Given the description of an element on the screen output the (x, y) to click on. 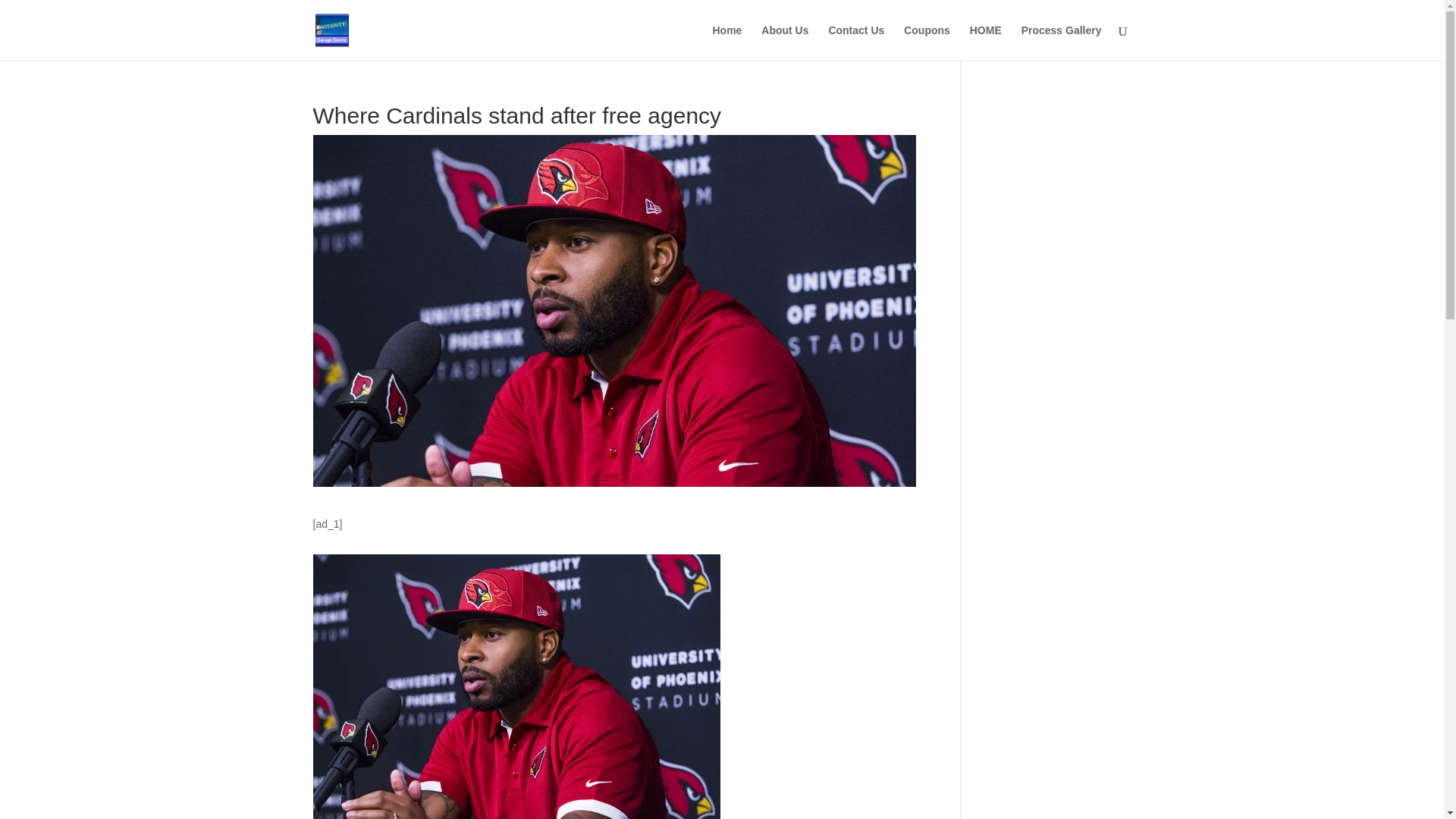
About Us (784, 42)
Contact Us (855, 42)
Coupons (927, 42)
Process Gallery (1062, 42)
HOME (985, 42)
